Given the description of an element on the screen output the (x, y) to click on. 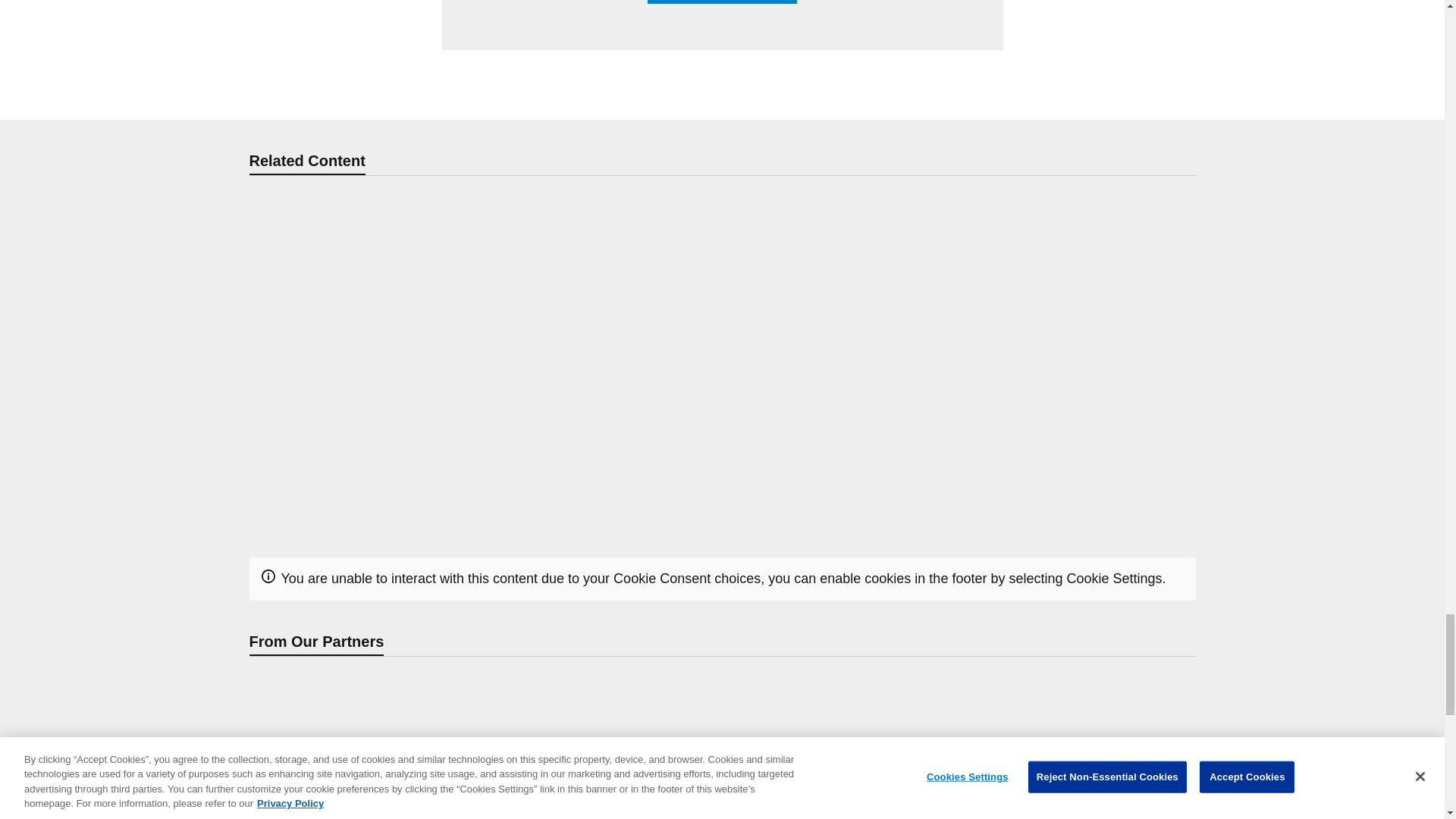
SUBMIT (722, 2)
